Given the description of an element on the screen output the (x, y) to click on. 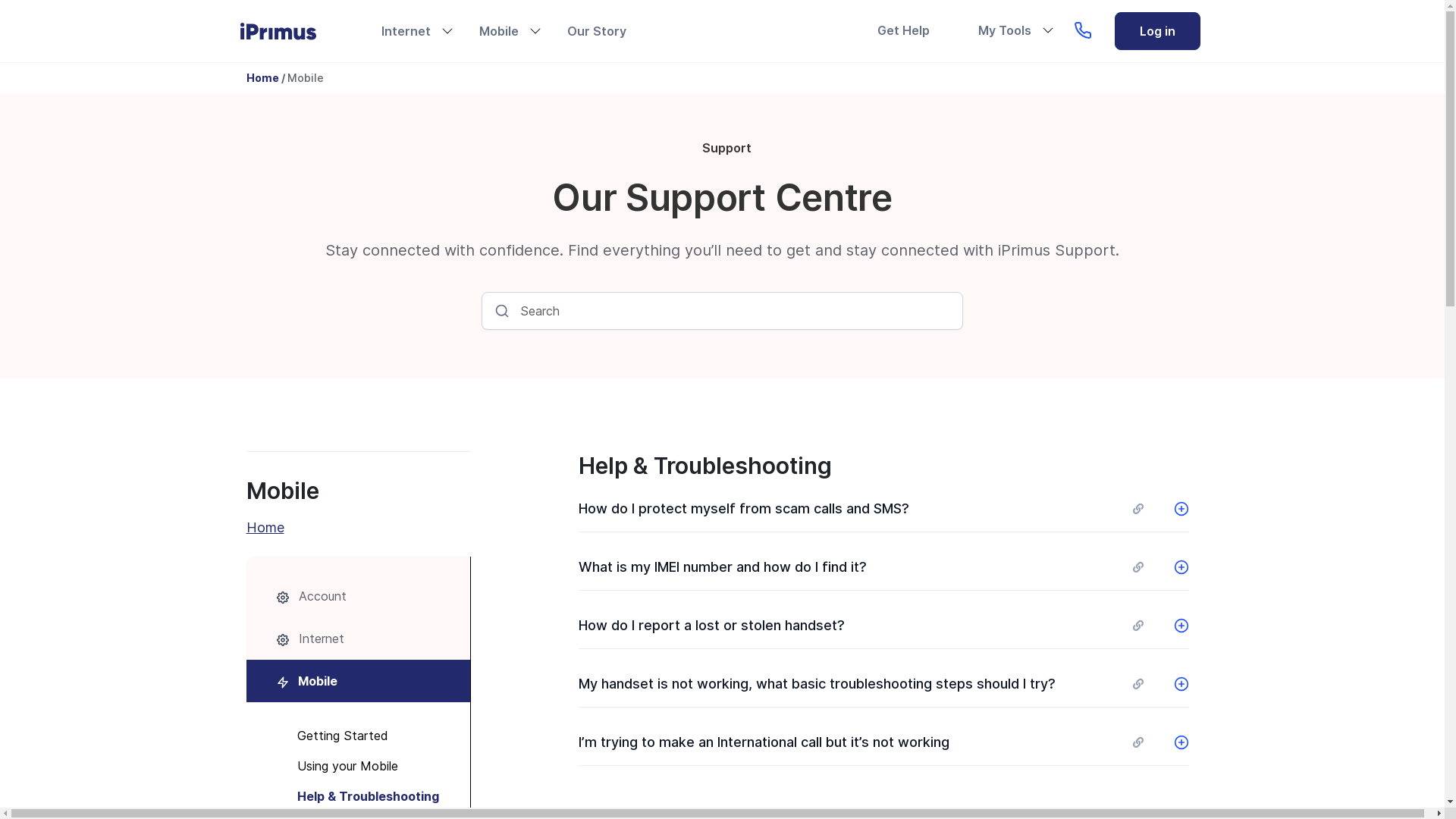
Link to article Element type: hover (1137, 508)
Getting Started Element type: text (357, 735)
Account Element type: text (357, 595)
Get Help Element type: text (902, 30)
How do I protect myself from scam calls and SMS? Element type: text (883, 508)
Mobile Element type: text (304, 77)
Home Element type: hover (290, 31)
Mobile Element type: text (357, 680)
Home Element type: text (261, 77)
Internet Element type: text (405, 30)
Mobile Element type: text (498, 30)
Home Element type: text (357, 527)
Link to article Element type: hover (1137, 741)
Log in Element type: text (1157, 31)
Link to article Element type: hover (1137, 683)
Using your Mobile Element type: text (357, 765)
Link to article Element type: hover (1137, 625)
What is my IMEI number and how do I find it? Element type: text (883, 566)
Help & Troubleshooting Element type: text (357, 796)
Our Story Element type: text (596, 30)
How do I report a lost or stolen handset? Element type: text (883, 625)
Link to article Element type: hover (1137, 566)
Internet Element type: text (357, 638)
My Tools Element type: text (1004, 30)
